Given the description of an element on the screen output the (x, y) to click on. 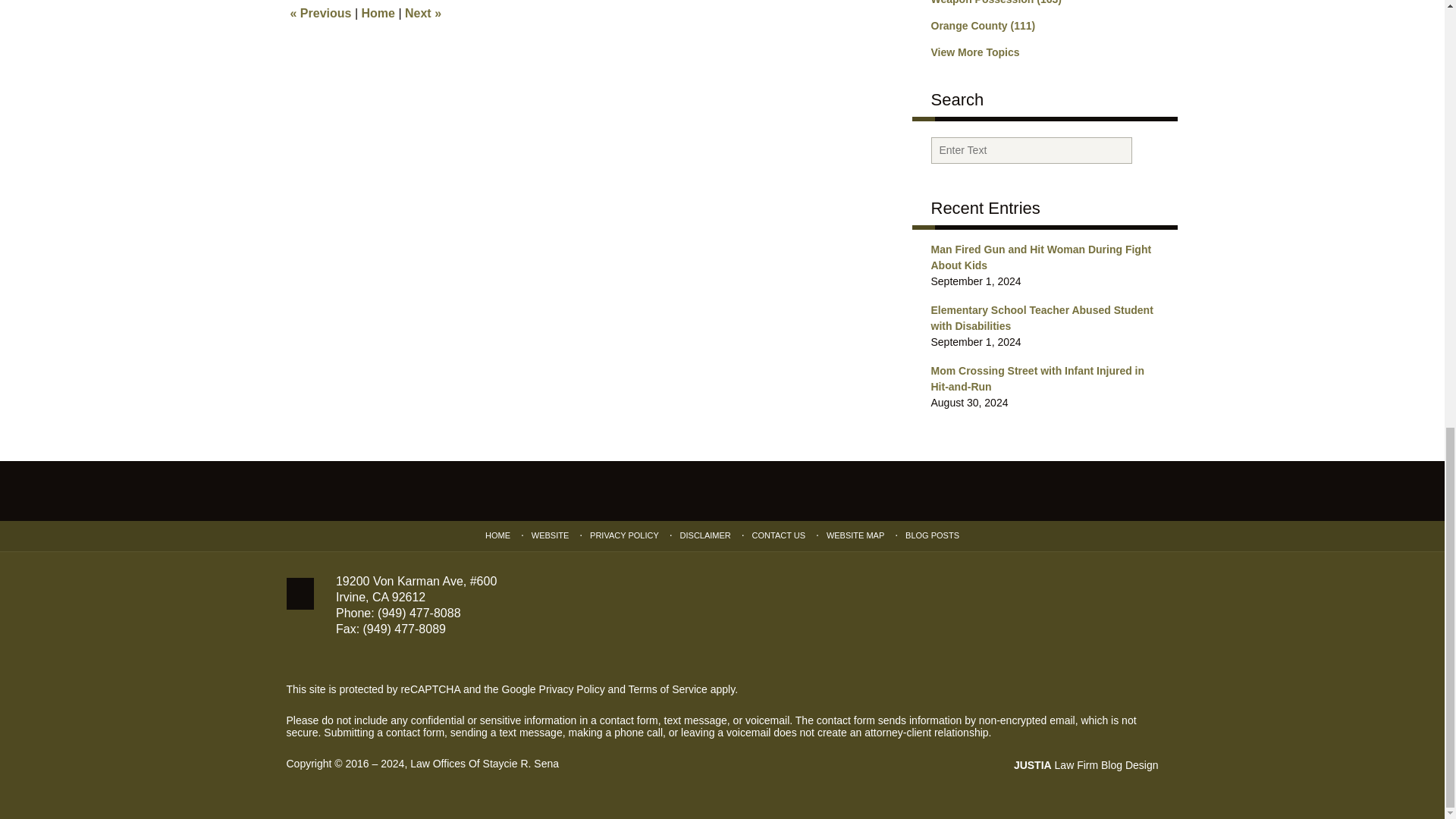
Florida Man Arrested for Seventh DUI During Traffic Stop (319, 12)
Home (377, 12)
Man Stole Semi with 10 Corvettes for Ride Home from Prison (422, 12)
